Given the description of an element on the screen output the (x, y) to click on. 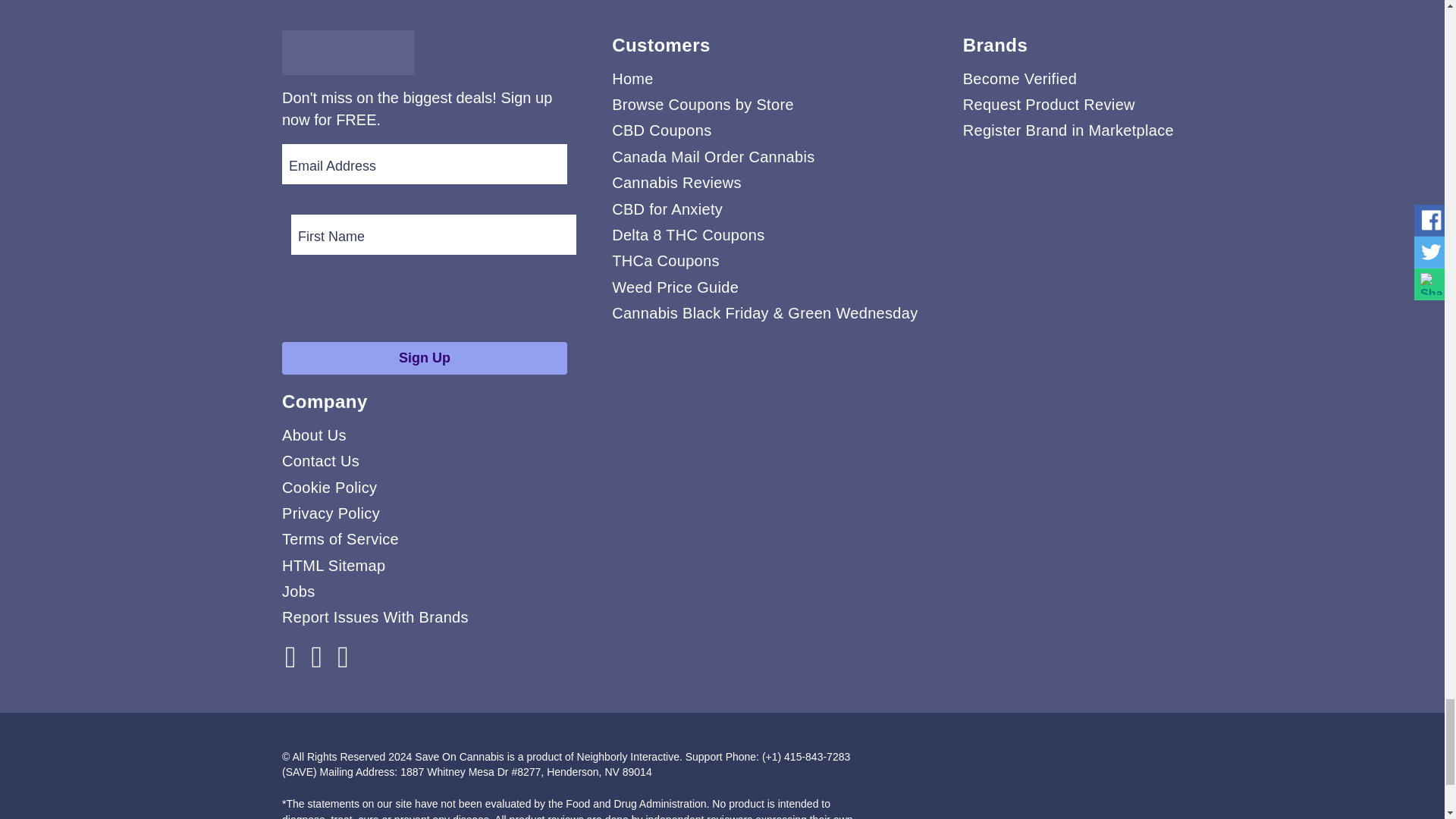
Sign Up (424, 358)
